Given the description of an element on the screen output the (x, y) to click on. 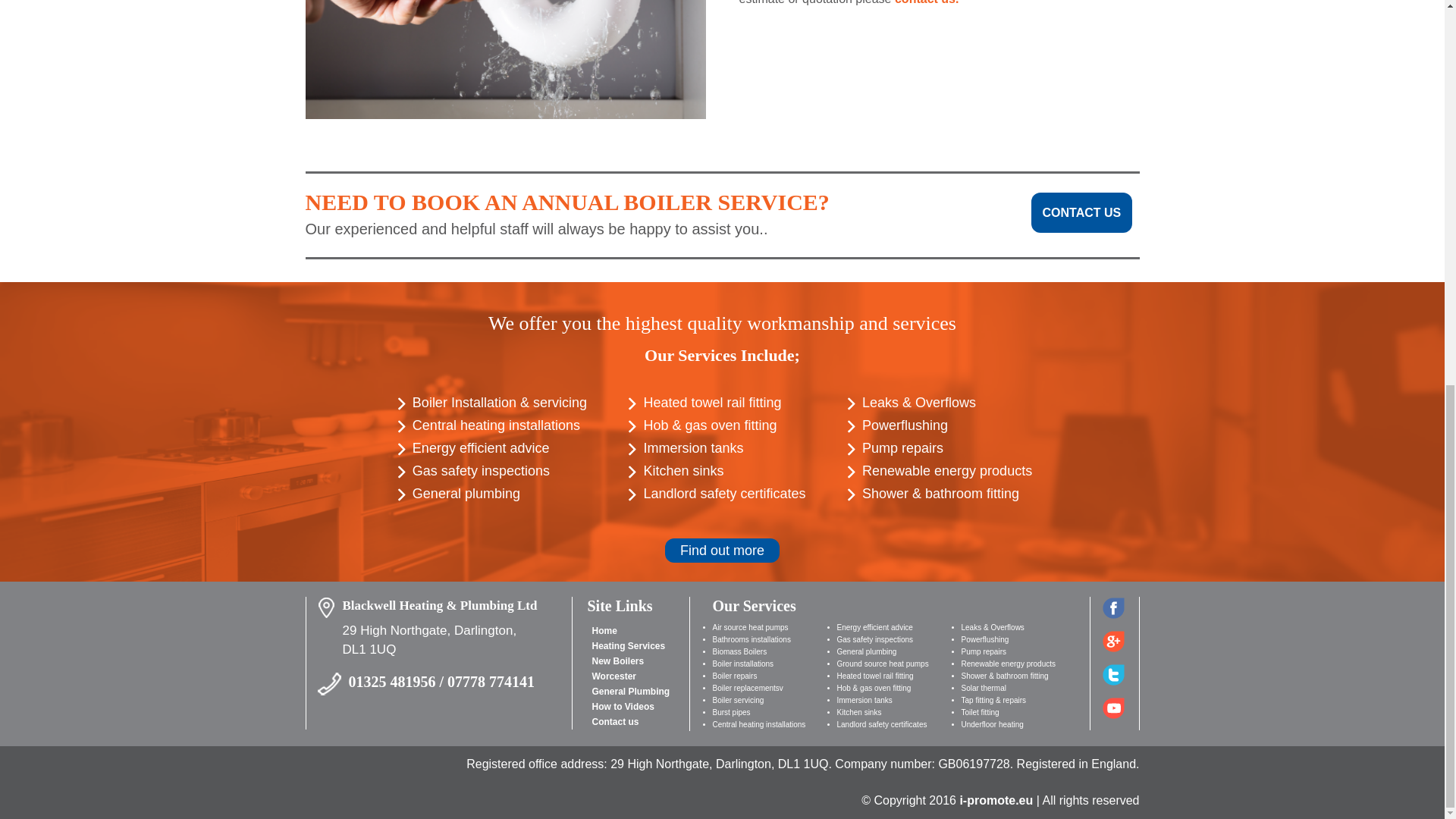
Heating Services (628, 645)
New Boilers (617, 661)
General Plumbing (630, 691)
How to Videos (622, 706)
Worcester (612, 675)
CONTACT US (1081, 212)
Contact us (615, 721)
contact us. (926, 2)
Find out more (721, 550)
i-promote.eu (997, 799)
Home (603, 630)
